Given the description of an element on the screen output the (x, y) to click on. 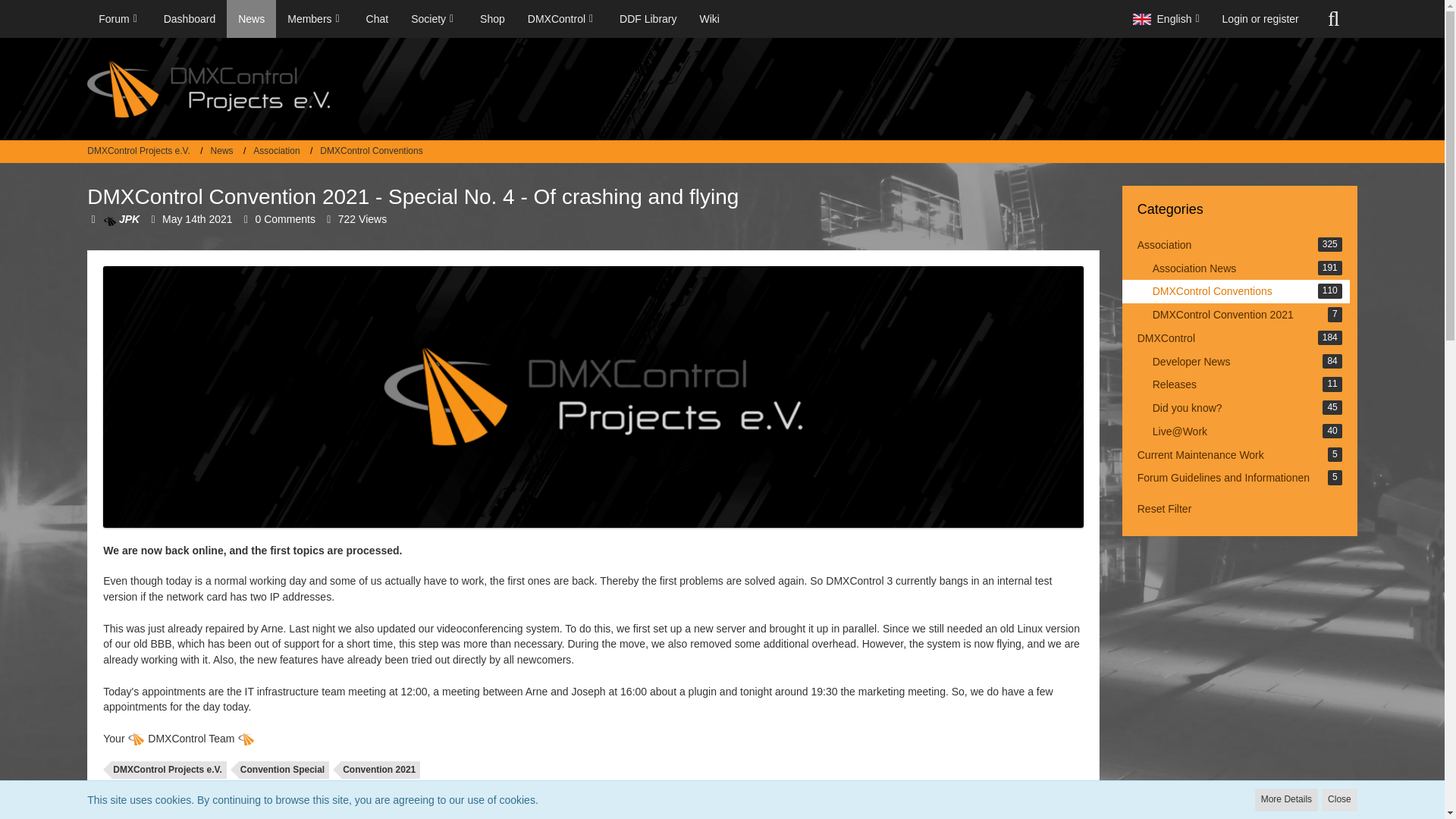
DMXControl (562, 18)
DMXControl Projects e.V. (144, 151)
JPK (120, 218)
DMXControl Projects e.V. (138, 150)
Chat (377, 18)
Login or register (1260, 18)
News (251, 18)
Convention Special (283, 769)
News (228, 151)
News (221, 150)
Association (276, 150)
0 Comments (285, 218)
Members (314, 18)
Society (433, 18)
May 14th 2021 (196, 218)
